Given the description of an element on the screen output the (x, y) to click on. 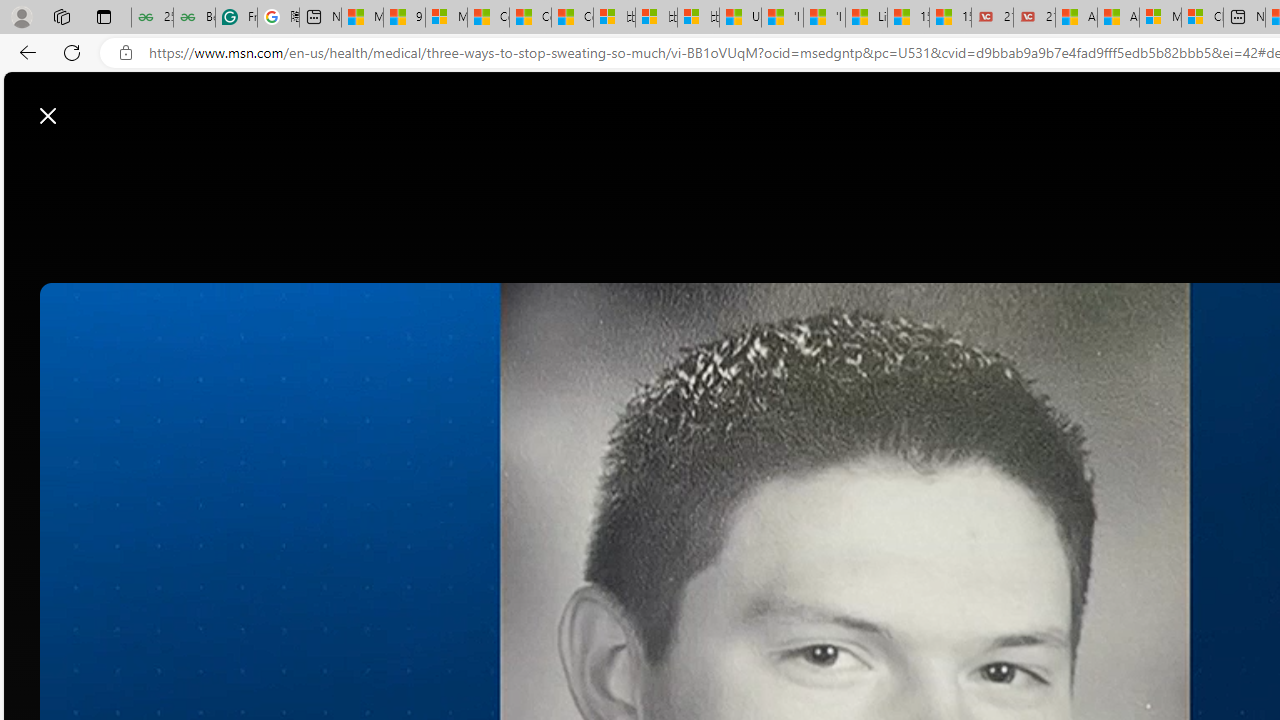
Refresh (72, 52)
Discover (375, 162)
Class: control icon-only (47, 115)
Microsoft Start (94, 105)
Cloud Computing Services | Microsoft Azure (1201, 17)
Skip to footer (82, 105)
Best SSL Certificates Provider in India - GeeksforGeeks (194, 17)
15 Ways Modern Life Contradicts the Teachings of Jesus (950, 17)
View site information (125, 53)
25 Basic Linux Commands For Beginners - GeeksforGeeks (151, 17)
Following (463, 162)
New tab (1243, 17)
Class: button-glyph (320, 162)
Free AI Writing Assistance for Students | Grammarly (236, 17)
